Given the description of an element on the screen output the (x, y) to click on. 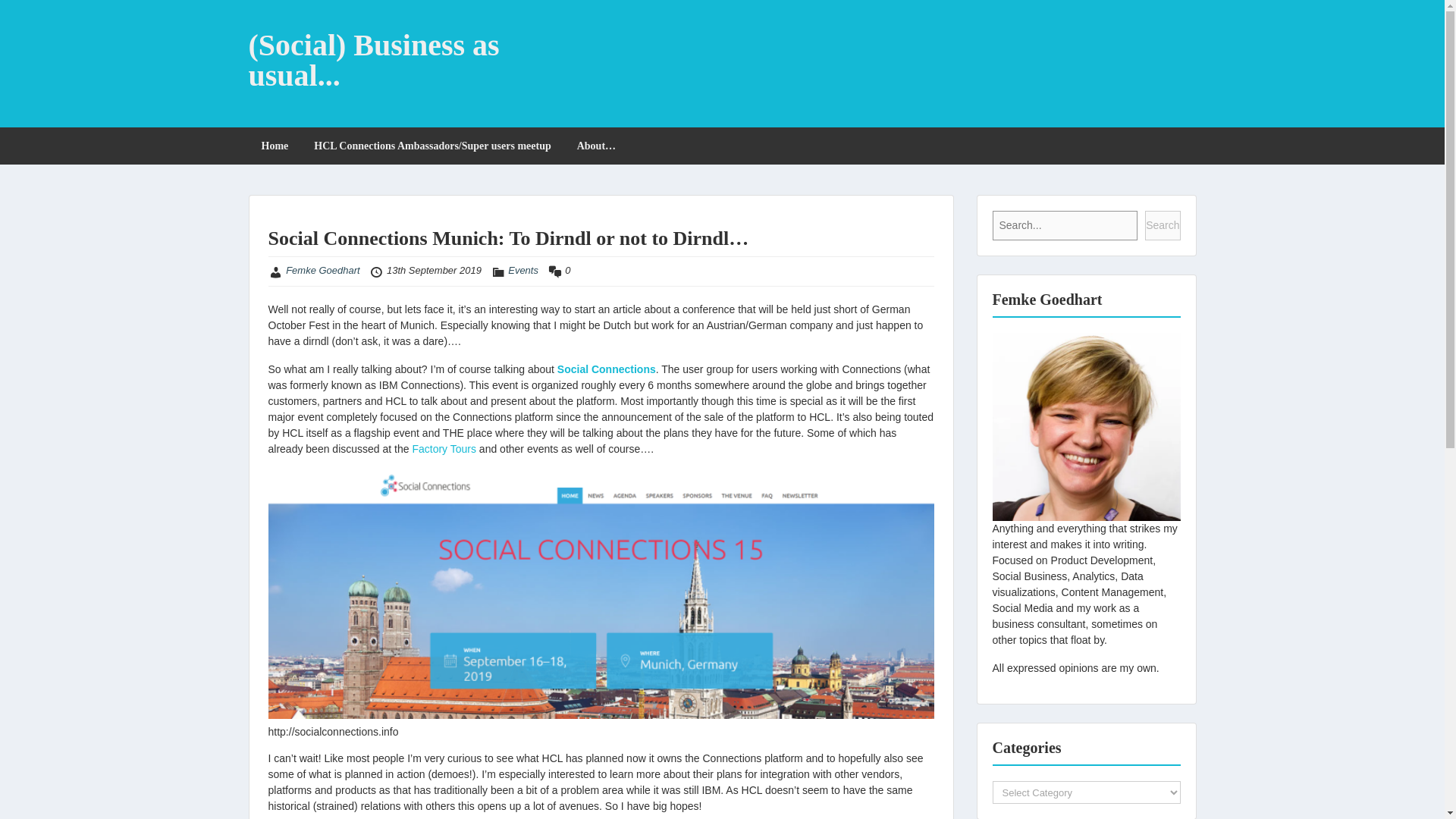
Social Connections (606, 369)
Factory Tours (444, 449)
Home (274, 145)
Femke Goedhart (322, 270)
Search (1161, 225)
Events (523, 270)
